Given the description of an element on the screen output the (x, y) to click on. 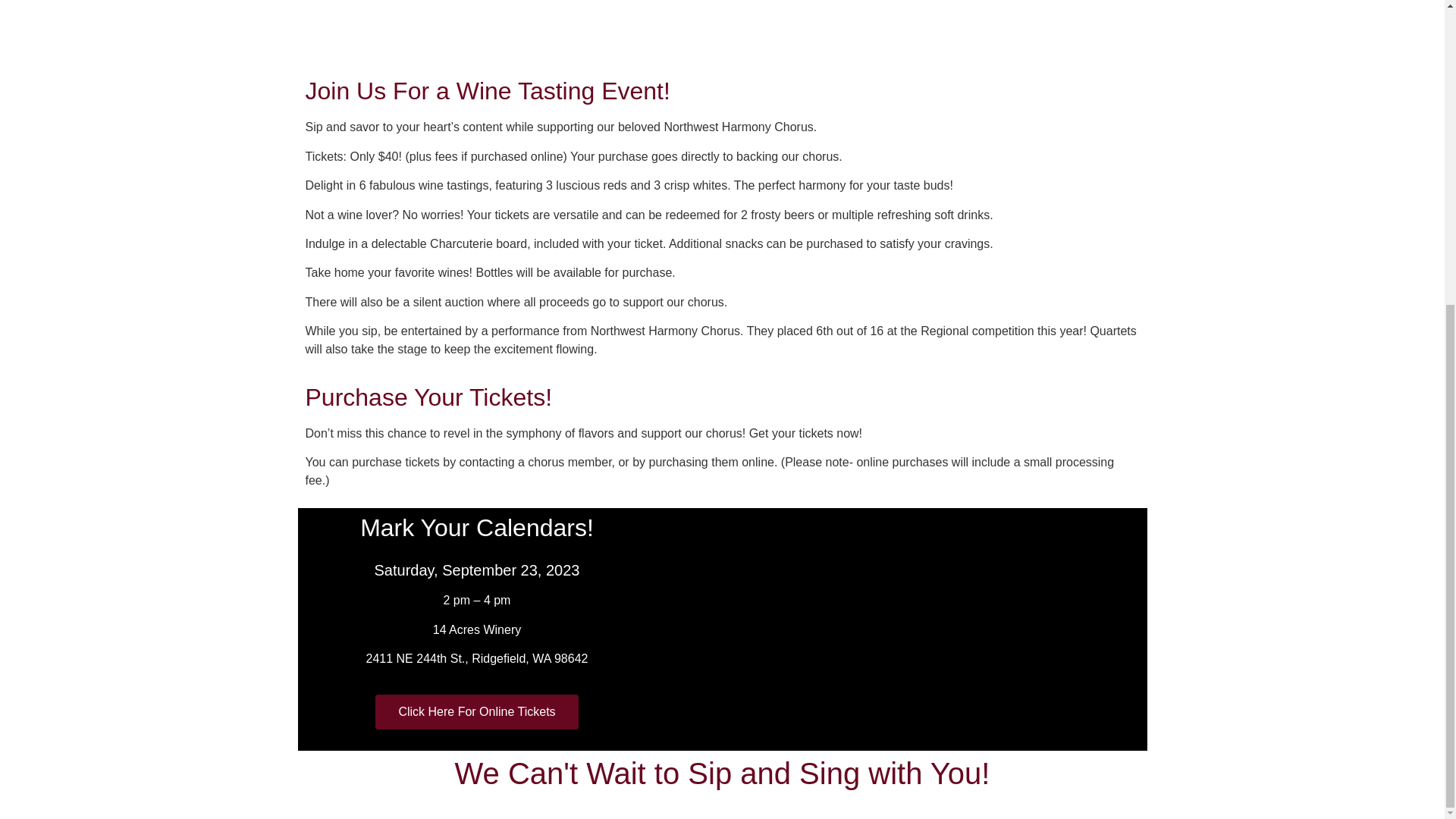
Click Here For Online Tickets (476, 711)
